Given the description of an element on the screen output the (x, y) to click on. 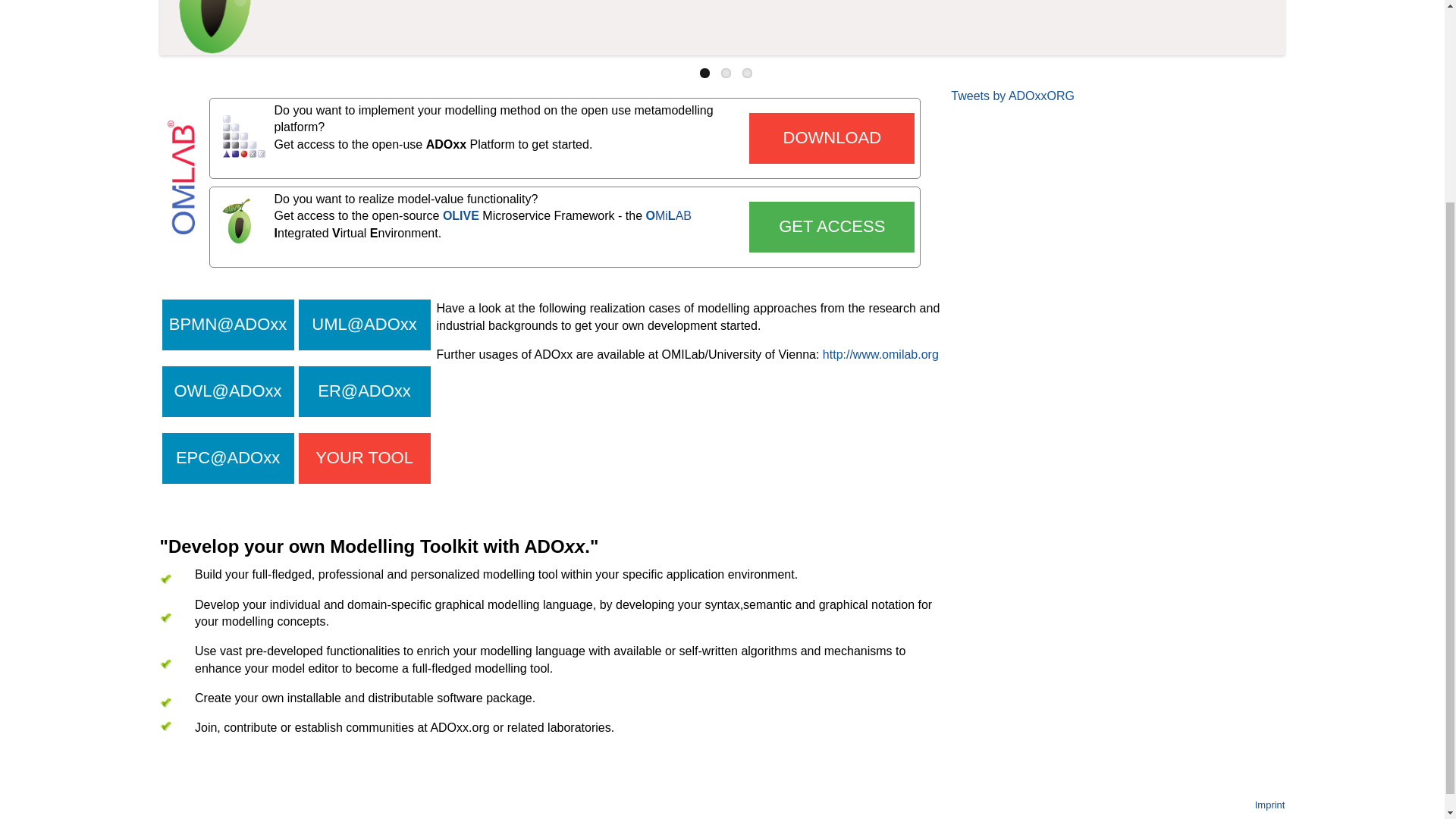
3 (747, 72)
DOWNLOAD (831, 138)
GET ACCESS (831, 226)
2 (725, 72)
1 (705, 72)
